Given the description of an element on the screen output the (x, y) to click on. 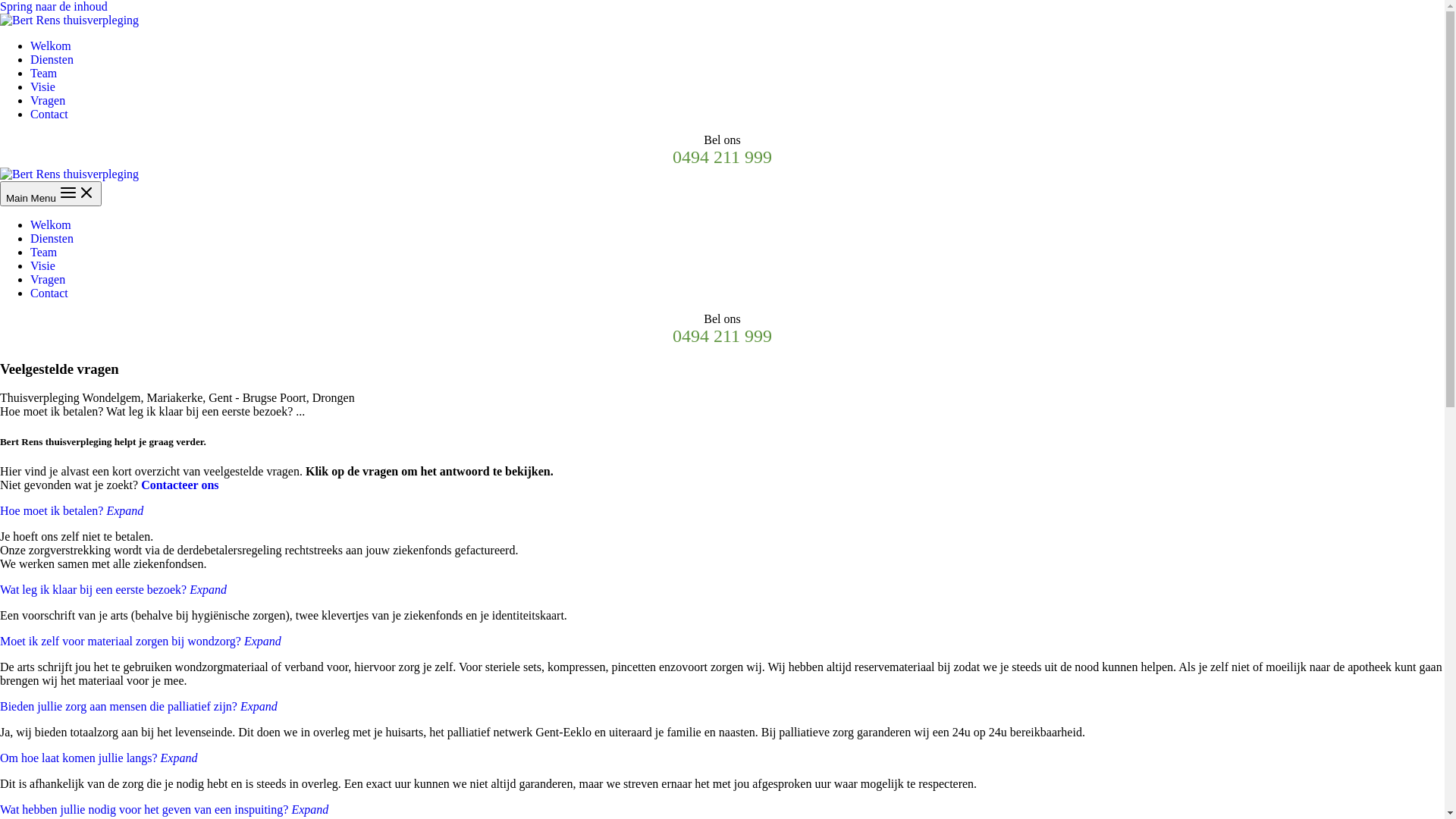
Expand Element type: text (258, 705)
Contact Element type: text (49, 113)
Vragen Element type: text (47, 279)
Visie Element type: text (42, 86)
Hoe moet ik betalen? Element type: text (51, 510)
Expand Element type: text (207, 589)
Expand Element type: text (178, 757)
Expand Element type: text (262, 640)
Welkom Element type: text (50, 45)
Main Menu Element type: text (50, 193)
Contact Element type: text (49, 292)
Diensten Element type: text (51, 238)
Spring naar de inhoud Element type: text (53, 6)
Welkom Element type: text (50, 224)
Team Element type: text (43, 72)
Contacteer ons Element type: text (179, 484)
Team Element type: text (43, 251)
Moet ik zelf voor materiaal zorgen bij wondzorg? Element type: text (120, 640)
Bieden jullie zorg aan mensen die palliatief zijn? Element type: text (118, 705)
Expand Element type: text (124, 510)
Visie Element type: text (42, 265)
Diensten Element type: text (51, 59)
Wat hebben jullie nodig voor het geven van een inspuiting? Element type: text (144, 809)
Om hoe laat komen jullie langs? Element type: text (78, 757)
Wat leg ik klaar bij een eerste bezoek? Element type: text (93, 589)
Vragen Element type: text (47, 100)
Expand Element type: text (309, 809)
